Given the description of an element on the screen output the (x, y) to click on. 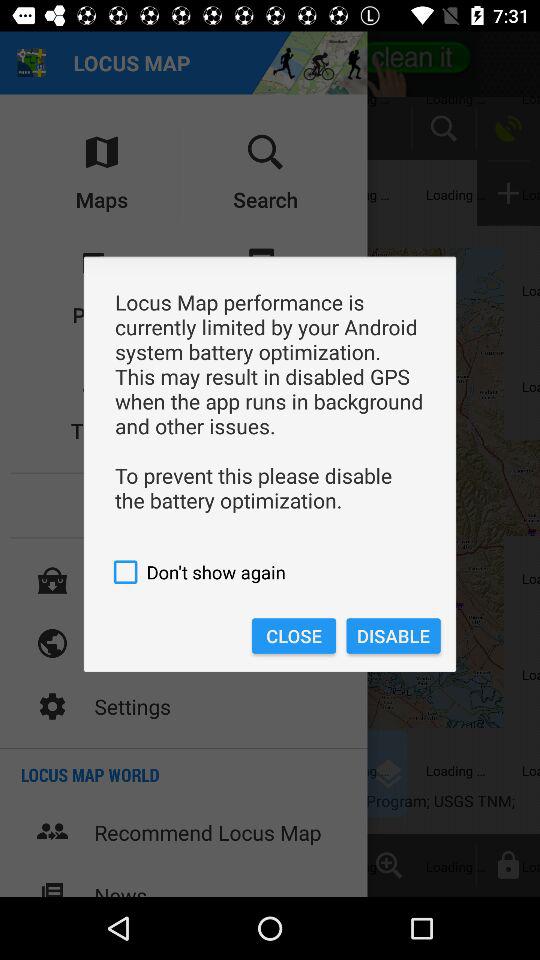
turn on item on the right (393, 635)
